Given the description of an element on the screen output the (x, y) to click on. 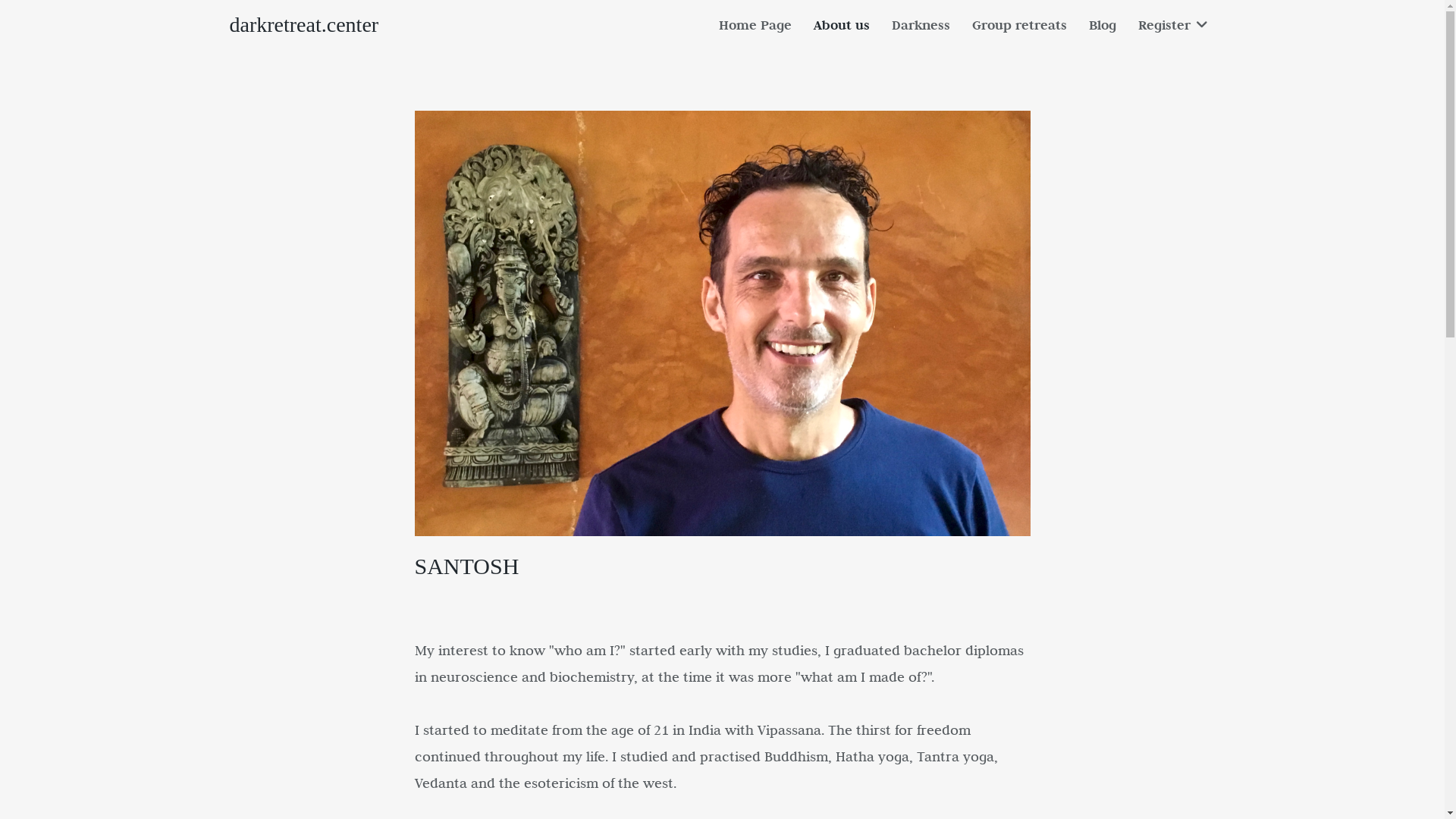
Home Page Element type: text (754, 25)
Blog Element type: text (1102, 25)
Group retreats Element type: text (1019, 25)
Darkness Element type: text (920, 25)
About us Element type: text (841, 25)
darkretreat.center Element type: text (303, 24)
